Given the description of an element on the screen output the (x, y) to click on. 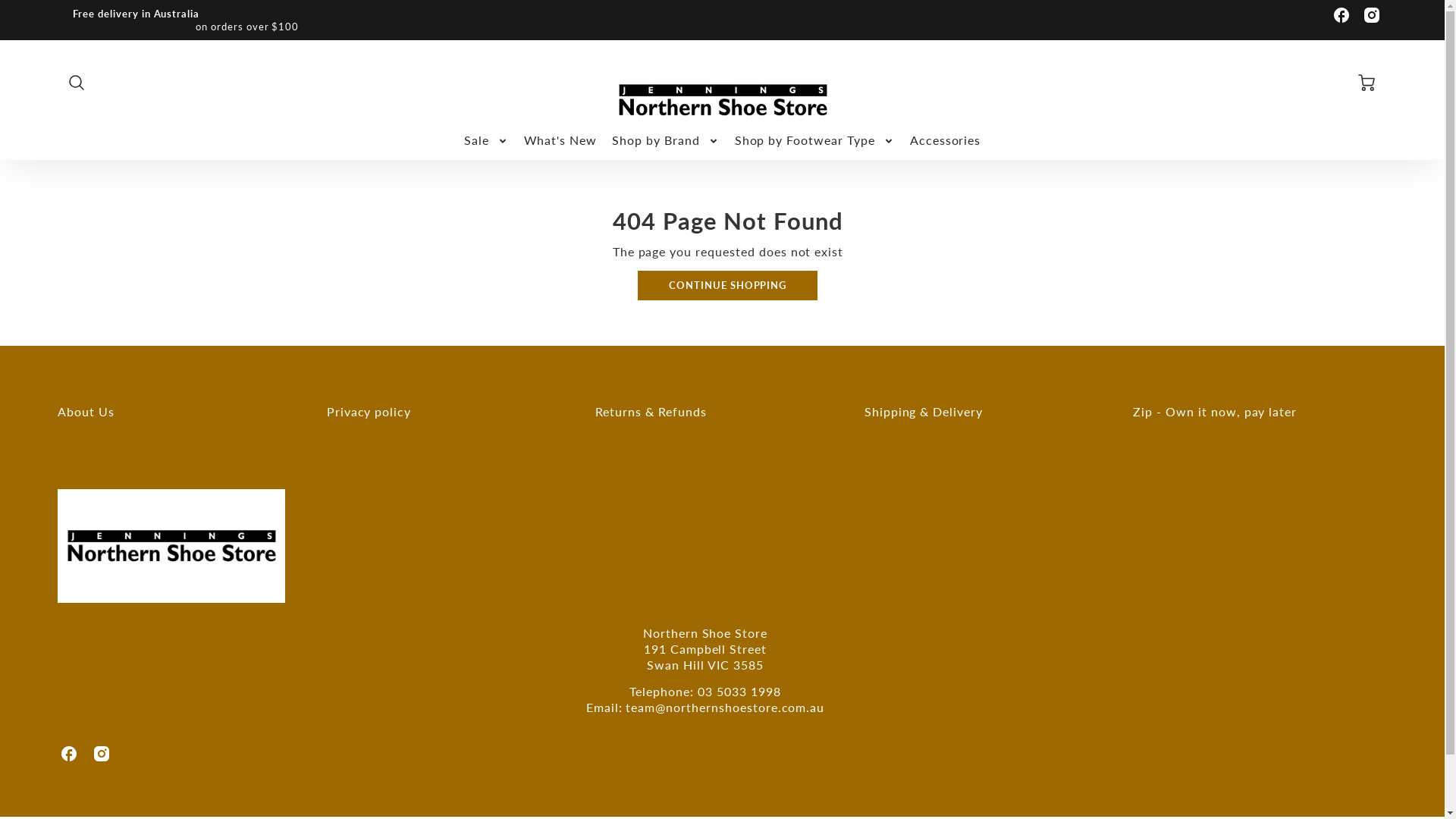
CONTINUE SHOPPING Element type: text (727, 285)
Northern Shoe Store on Facebook Element type: text (1341, 14)
Northern Shoe Store on Facebook Element type: text (68, 753)
Shop by Footwear Type Element type: text (814, 140)
Accessories Element type: text (945, 140)
Zip - Own it now, pay later Element type: text (1248, 411)
What's New Element type: text (559, 140)
About Us Element type: text (172, 411)
Sale Element type: text (486, 140)
Returns & Refunds Element type: text (710, 411)
Cart Element type: text (1367, 82)
Shop by Brand Element type: text (664, 140)
Northern Shoe Store on Instagram Element type: text (1371, 14)
Privacy policy Element type: text (442, 411)
Northern Shoe Store on Instagram Element type: text (101, 753)
Shipping & Delivery Element type: text (979, 411)
